Given the description of an element on the screen output the (x, y) to click on. 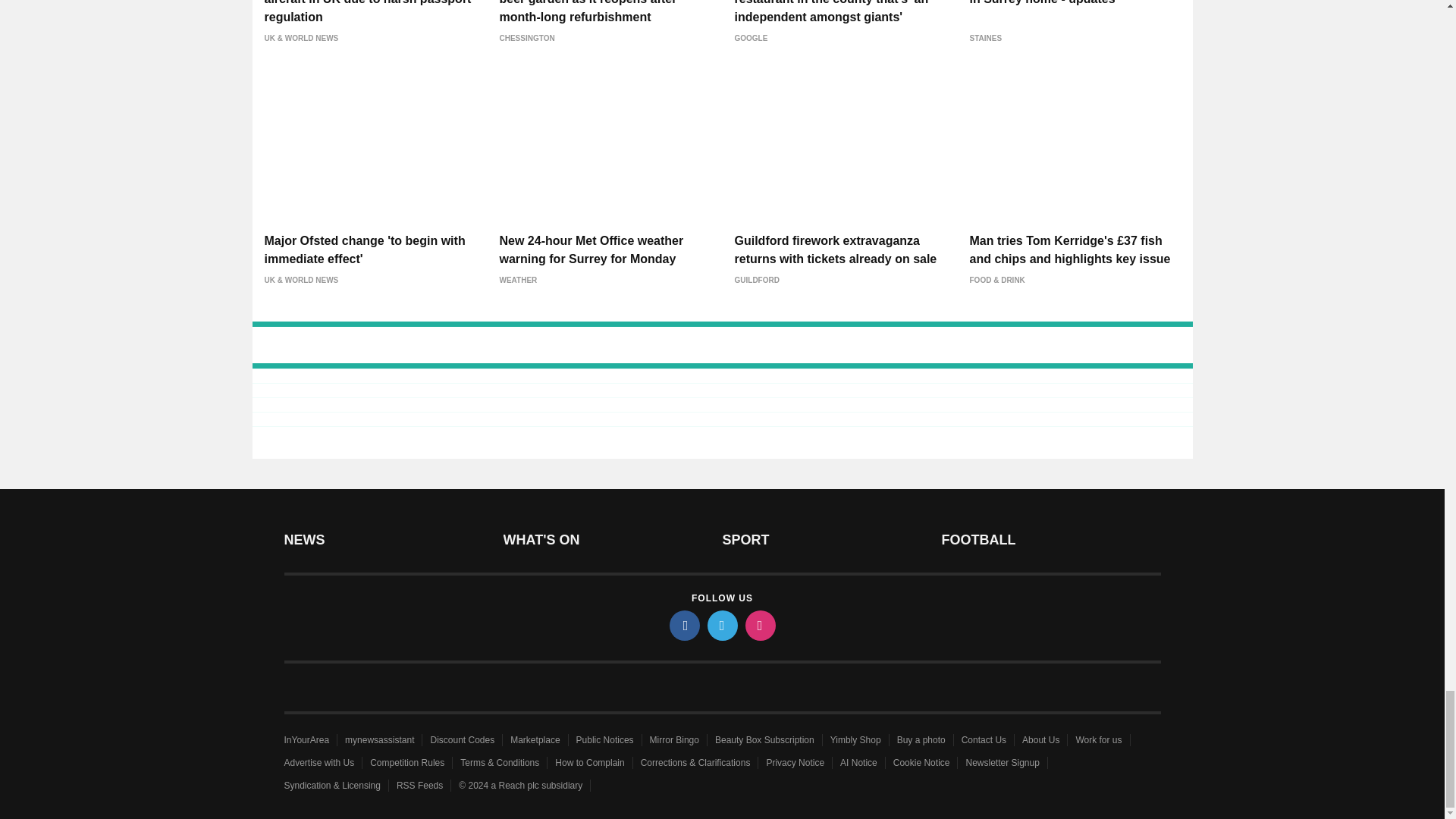
facebook (683, 625)
instagram (759, 625)
twitter (721, 625)
